Given the description of an element on the screen output the (x, y) to click on. 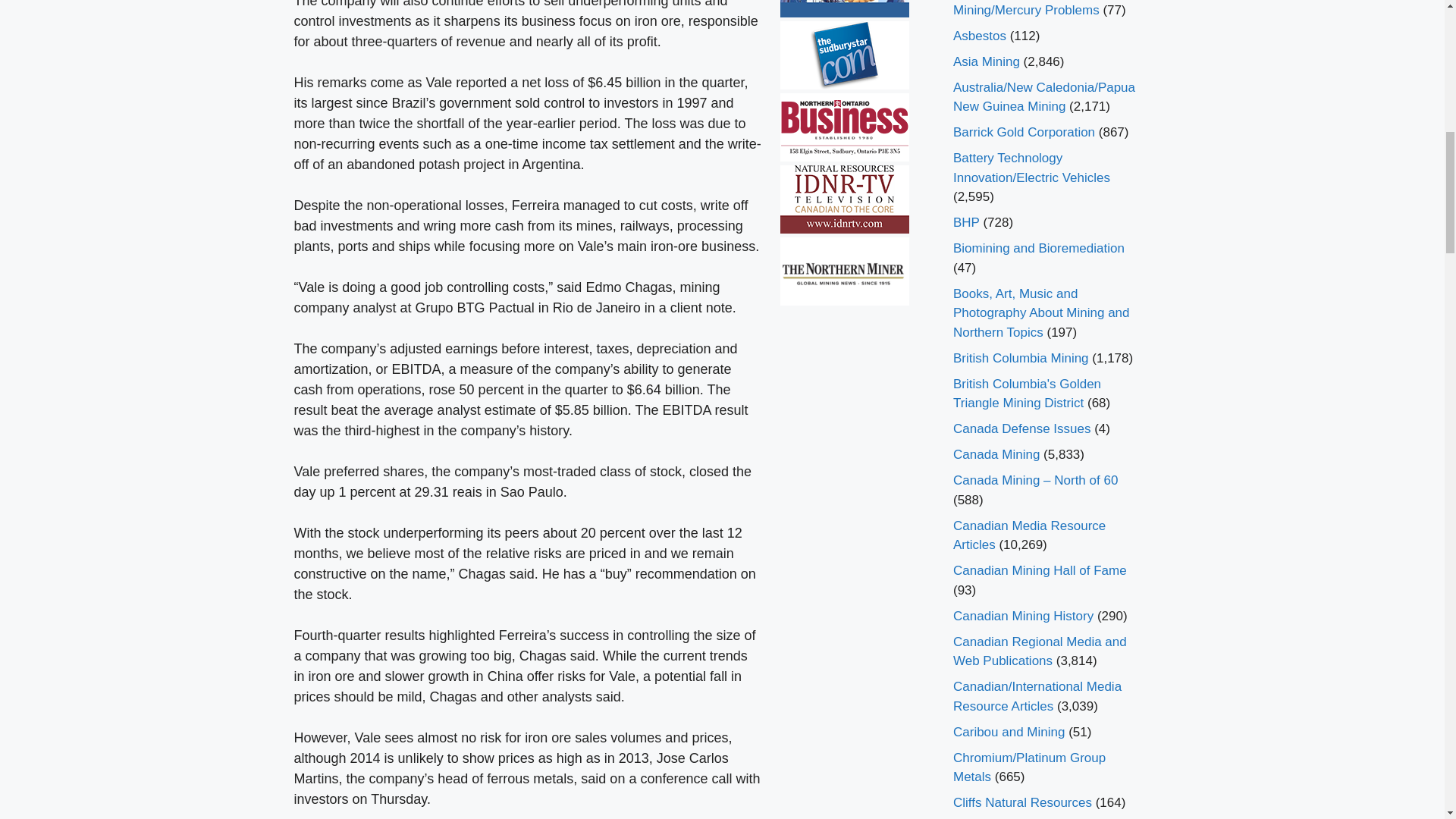
Scroll back to top (1406, 720)
